Given the description of an element on the screen output the (x, y) to click on. 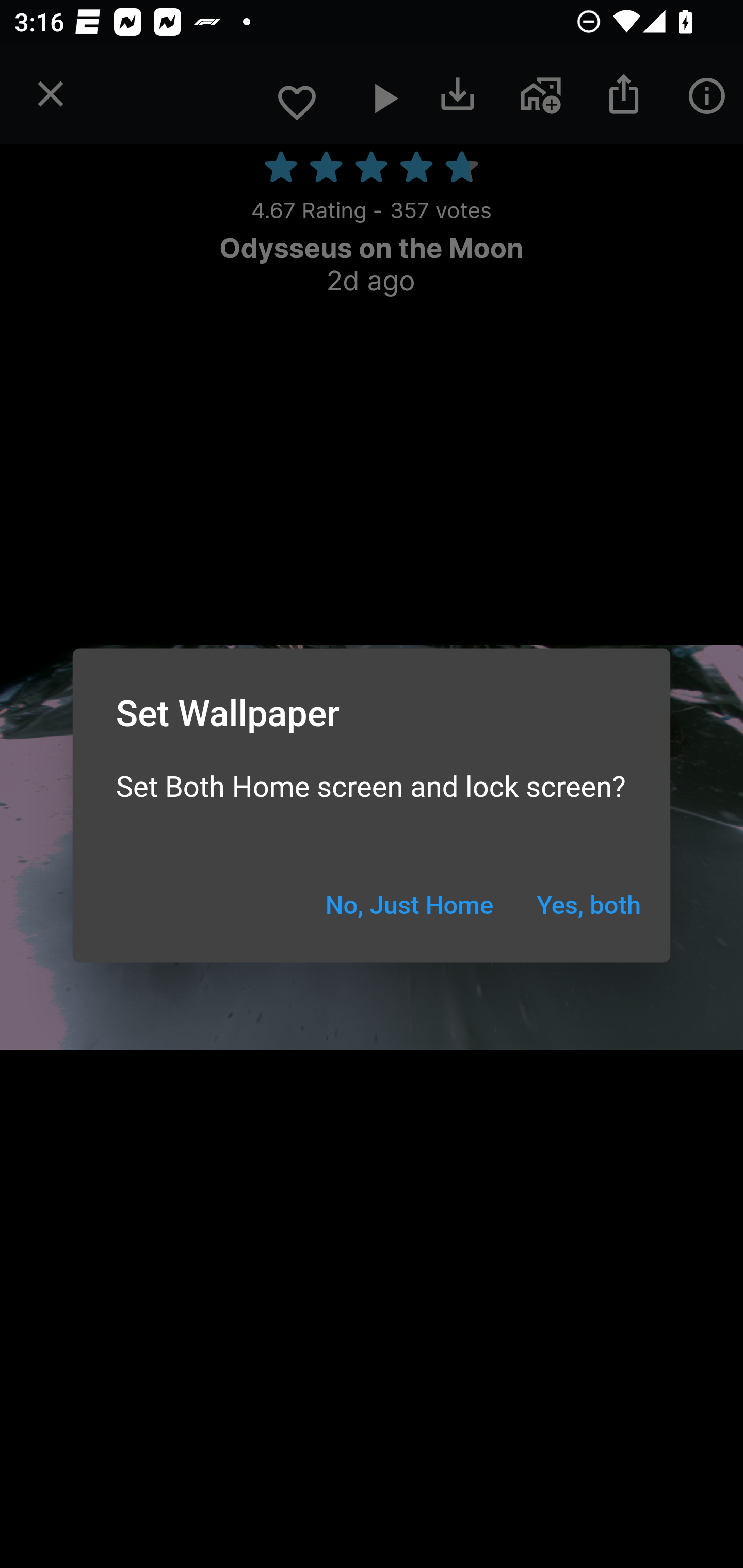
No, Just Home (409, 905)
Yes, both (589, 905)
